Given the description of an element on the screen output the (x, y) to click on. 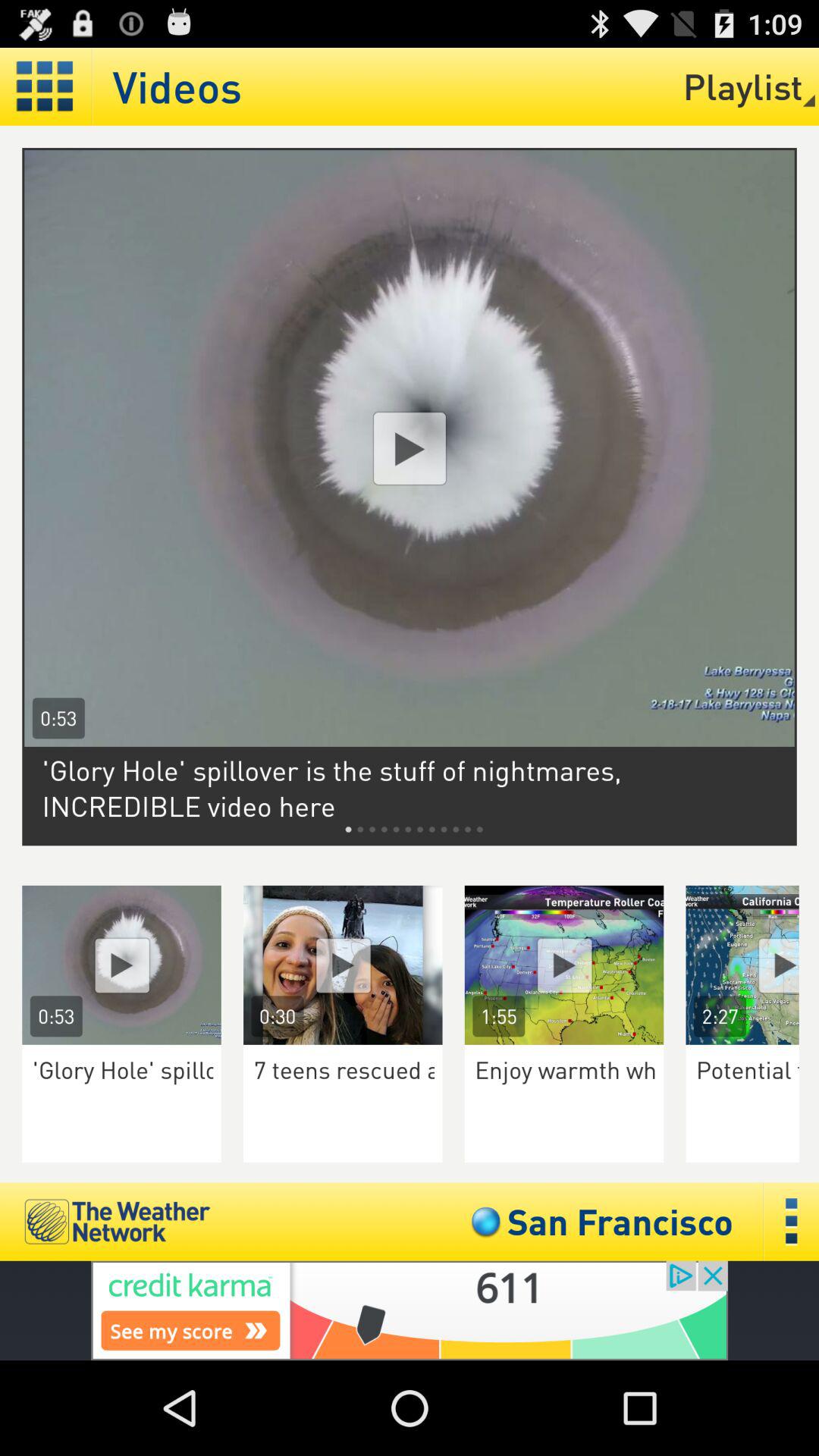
click in three dots to open menu (791, 1221)
